Given the description of an element on the screen output the (x, y) to click on. 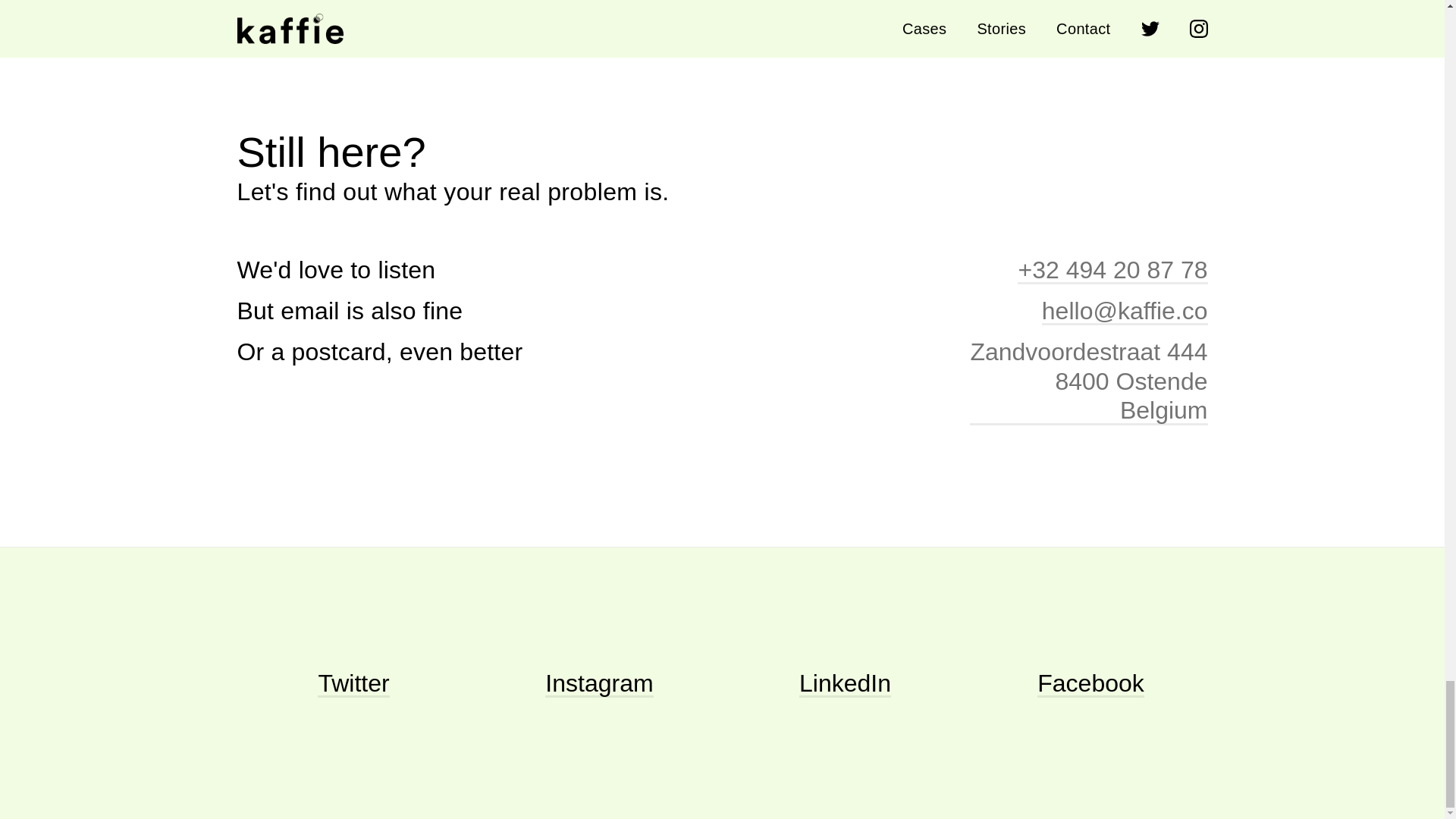
LinkedIn (845, 683)
Facebook (1090, 683)
Twitter (1088, 381)
Instagram (352, 683)
